Given the description of an element on the screen output the (x, y) to click on. 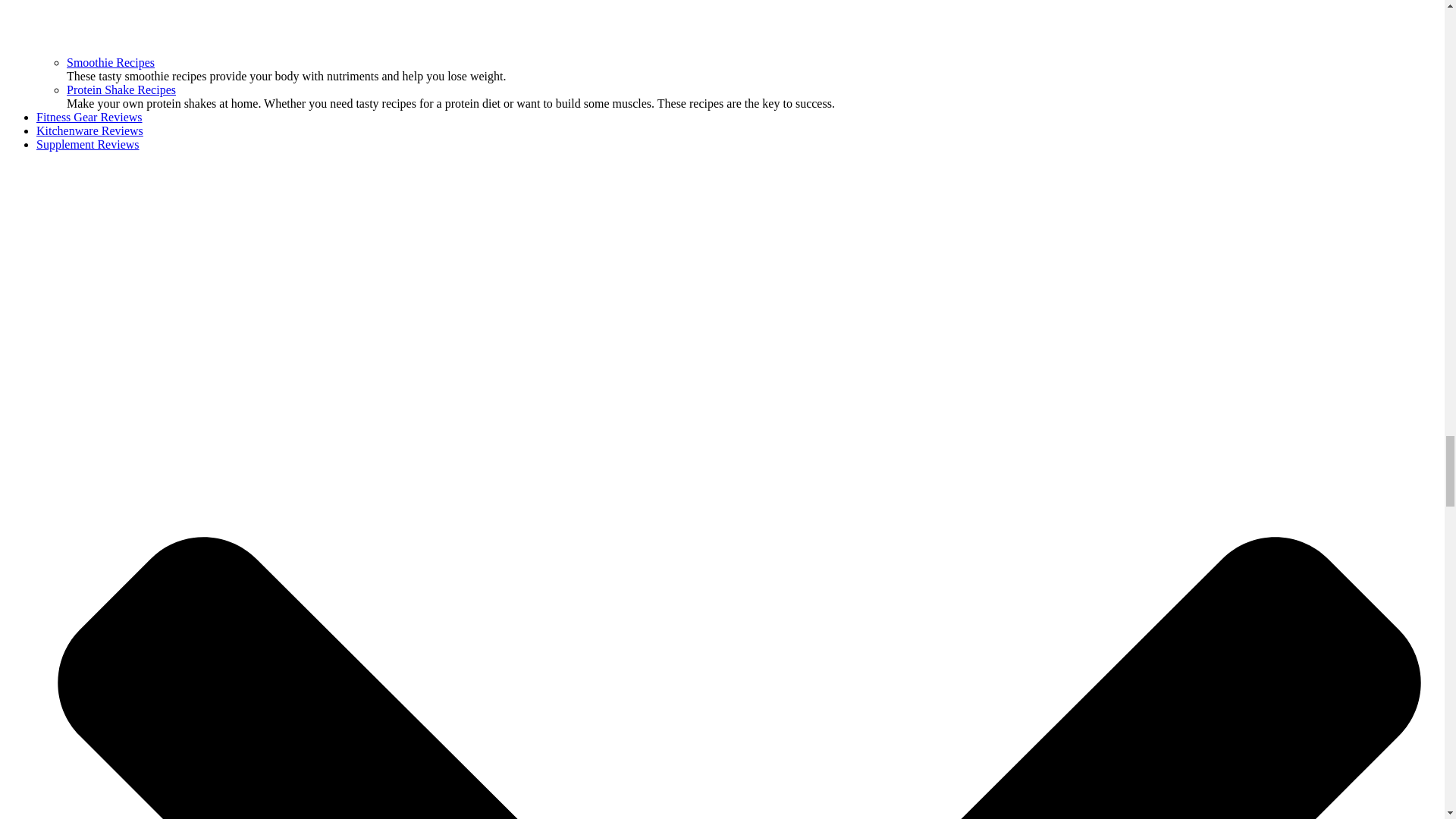
Fitness Gear Reviews (89, 116)
Protein Shake Recipes (121, 89)
Kitchenware Reviews (89, 130)
Supplement Reviews (87, 144)
Smoothie Recipes (110, 62)
